Given the description of an element on the screen output the (x, y) to click on. 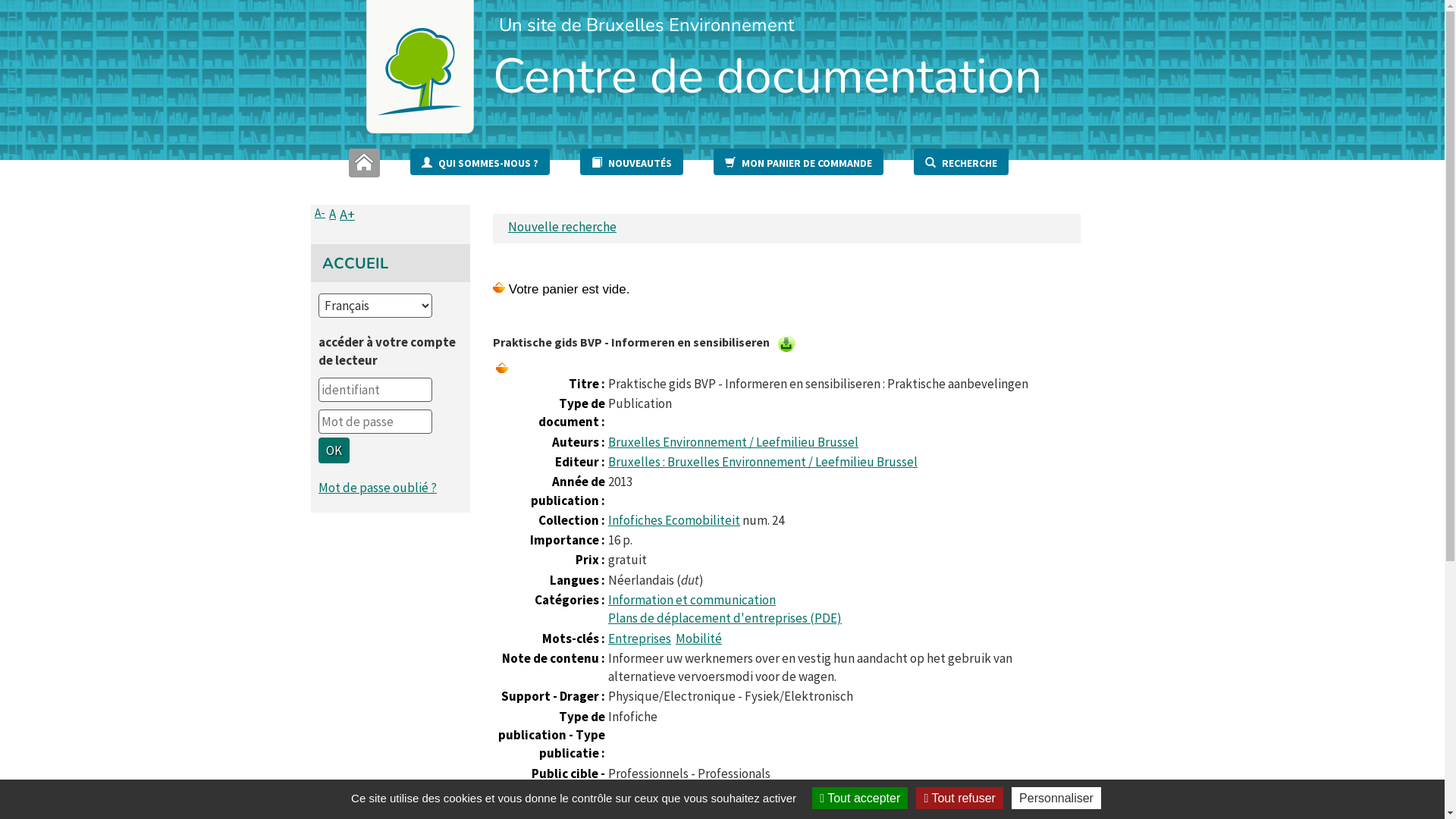
Nouvelle recherche Element type: text (562, 226)
ok Element type: text (333, 450)
A+ Element type: text (346, 213)
Tout accepter Element type: text (859, 798)
ACCUEIL Element type: text (363, 162)
Bruxelles : Bruxelles Environnement / Leefmilieu Brussel Element type: text (762, 461)
QUI SOMMES-NOUS ? Element type: text (479, 161)
Information et communication Element type: text (691, 599)
Bruxelles Environnement / Leefmilieu Brussel Element type: text (733, 441)
A- Element type: text (319, 212)
RECHERCHE Element type: text (960, 161)
Tout refuser Element type: text (959, 798)
A Element type: text (332, 213)
Personnaliser Element type: text (1056, 798)
IF Mobilte Informeren en Sensibiliseren FINAL NL Element type: hover (786, 343)
MON PANIER DE COMMANDE Element type: text (798, 161)
Entreprises Element type: text (639, 638)
ACCUEIL Element type: text (355, 263)
Infofiches Ecomobiliteit Element type: text (674, 519)
